Given the description of an element on the screen output the (x, y) to click on. 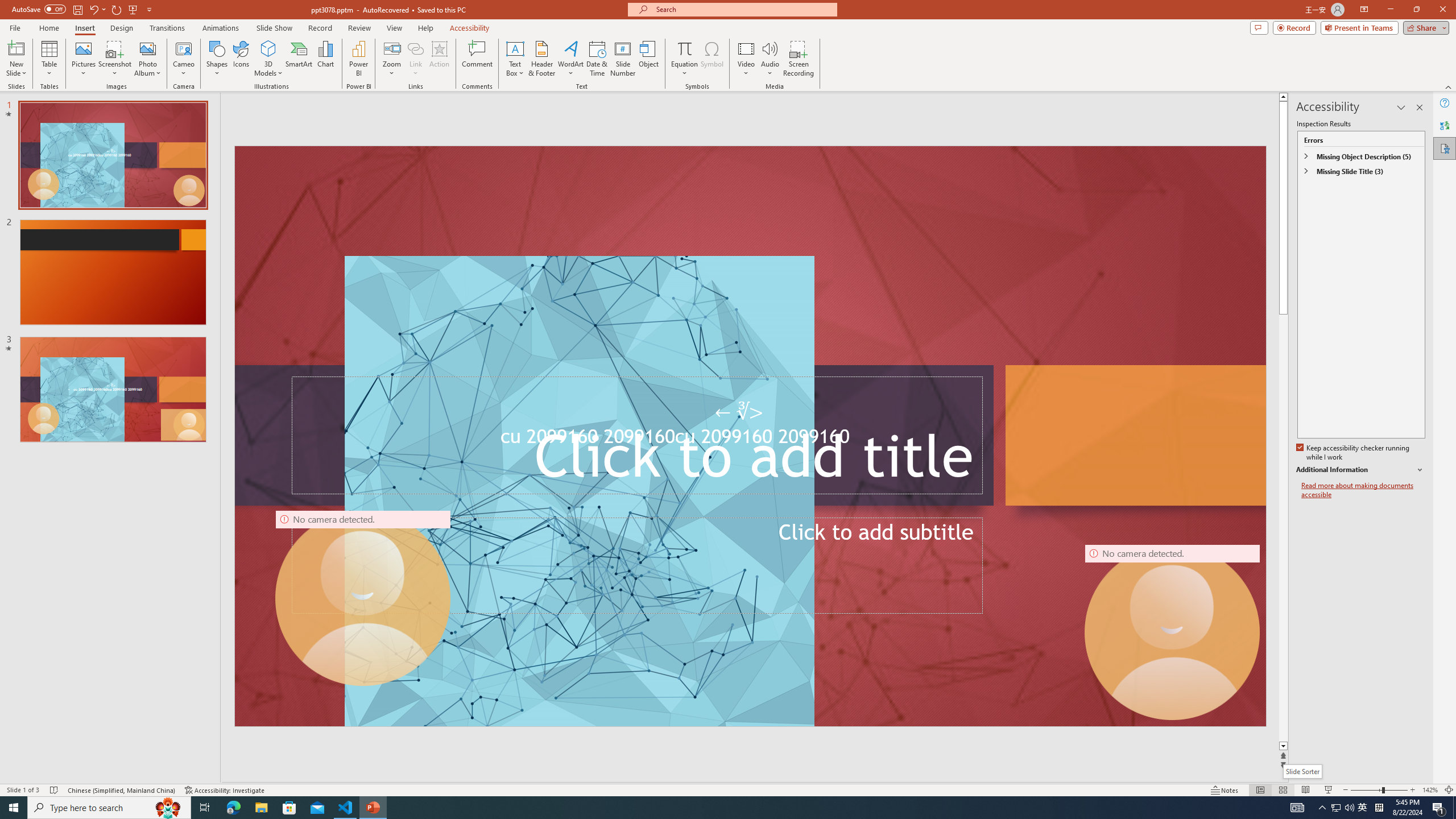
AutoSave (38, 9)
SmartArt... (298, 58)
Line down (1284, 746)
Action (439, 58)
Cameo (183, 58)
Screenshot (114, 58)
Date & Time... (596, 58)
Slide Sorter (1302, 771)
Comment (476, 58)
